Given the description of an element on the screen output the (x, y) to click on. 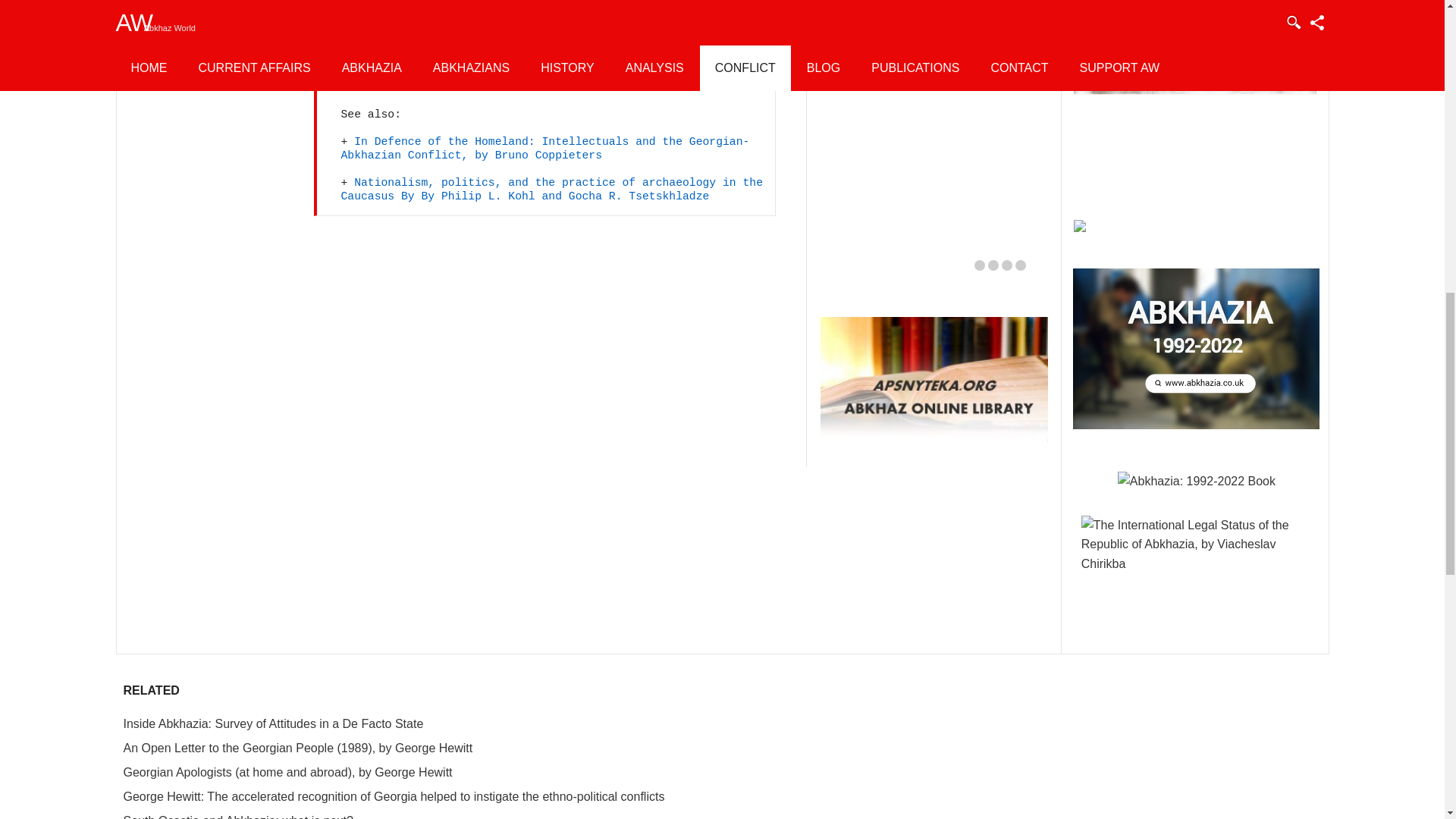
What Could Have Happened in the Caucasus, by John Colarusso (937, 27)
